Given the description of an element on the screen output the (x, y) to click on. 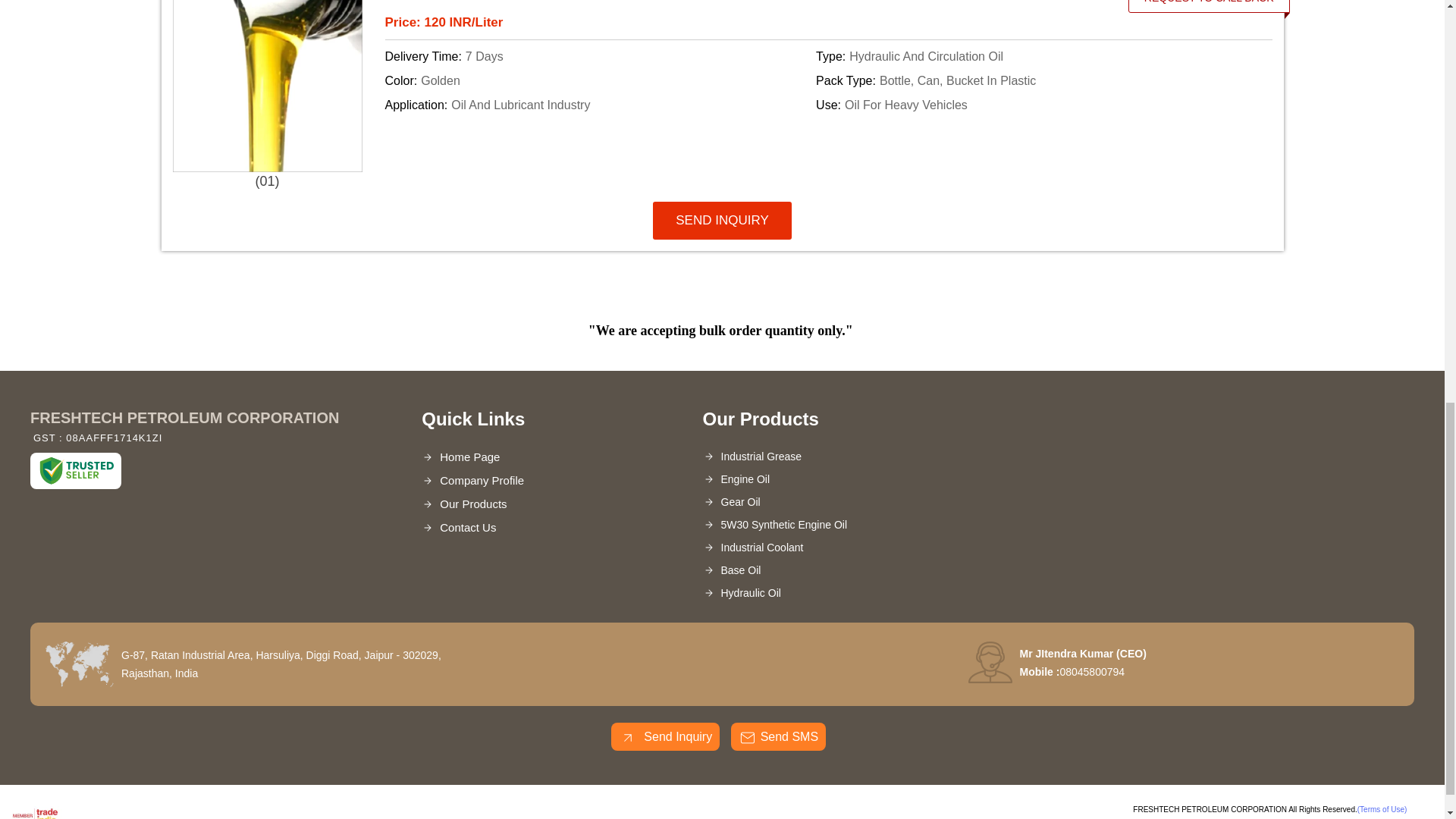
Delivery Time: 7 Days (597, 56)
Type: Hydraulic And Circulation Oil (1028, 56)
Color: Golden (597, 81)
Pack Type: Bottle, Can, Bucket In Plastic (1028, 81)
Application: Oil And Lubricant Industry (597, 105)
Send Inquiry (627, 737)
Use: Oil For Heavy Vehicles (1028, 105)
